Given the description of an element on the screen output the (x, y) to click on. 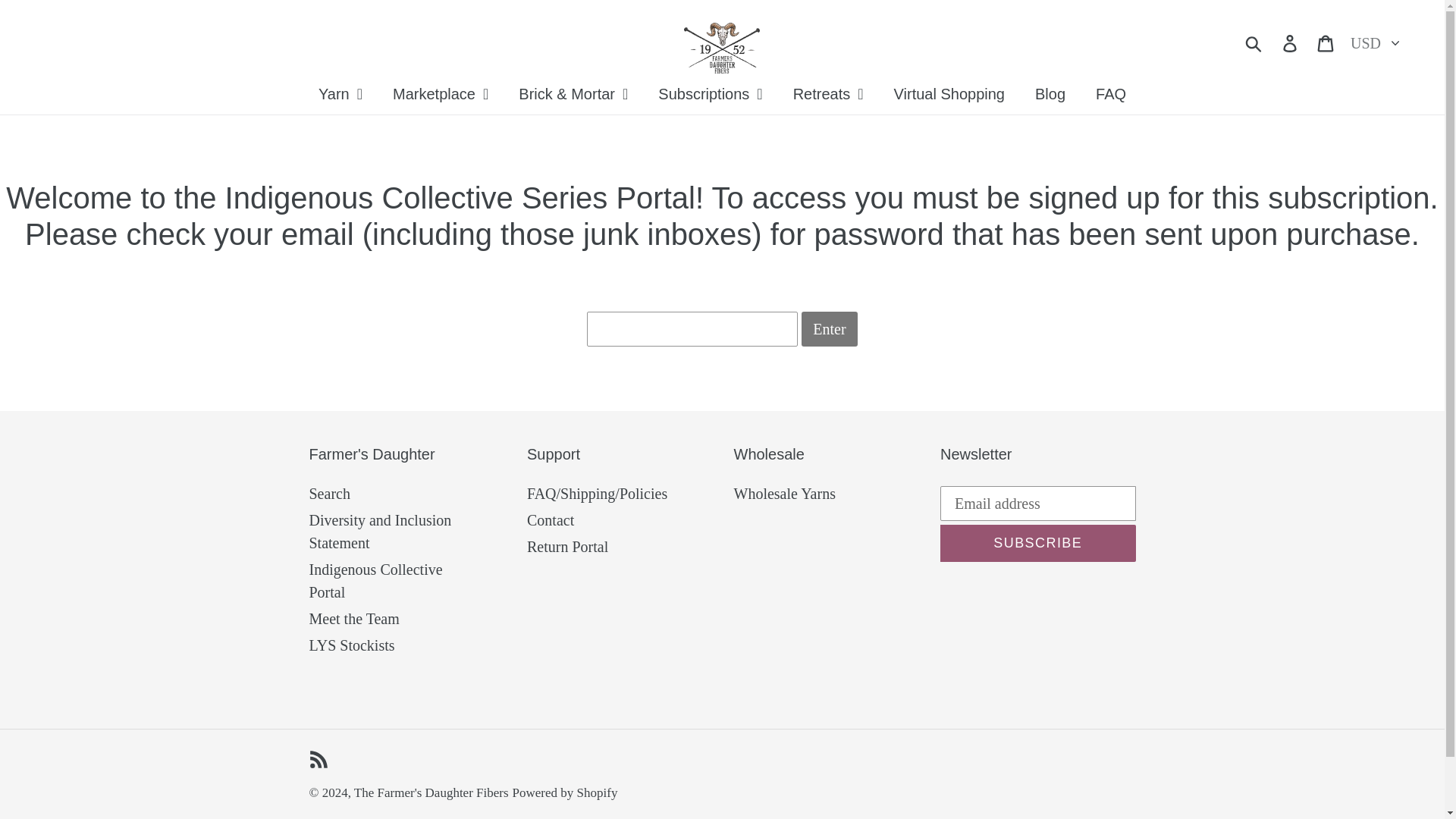
Cart (1325, 41)
Submit (1254, 41)
Log in (1290, 41)
